Given the description of an element on the screen output the (x, y) to click on. 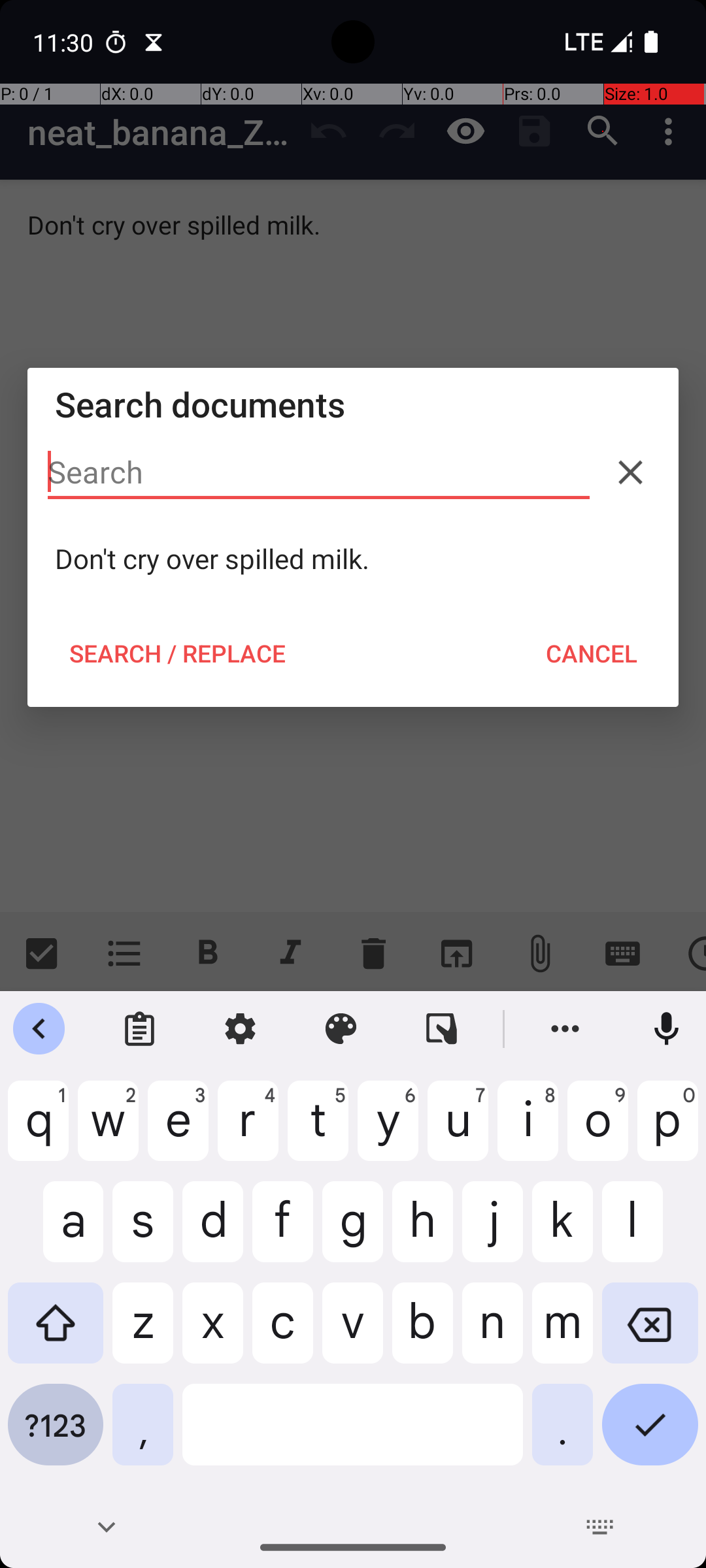
Don't cry over spilled milk. Element type: android.widget.TextView (352, 558)
11:30 Element type: android.widget.TextView (64, 41)
